Given the description of an element on the screen output the (x, y) to click on. 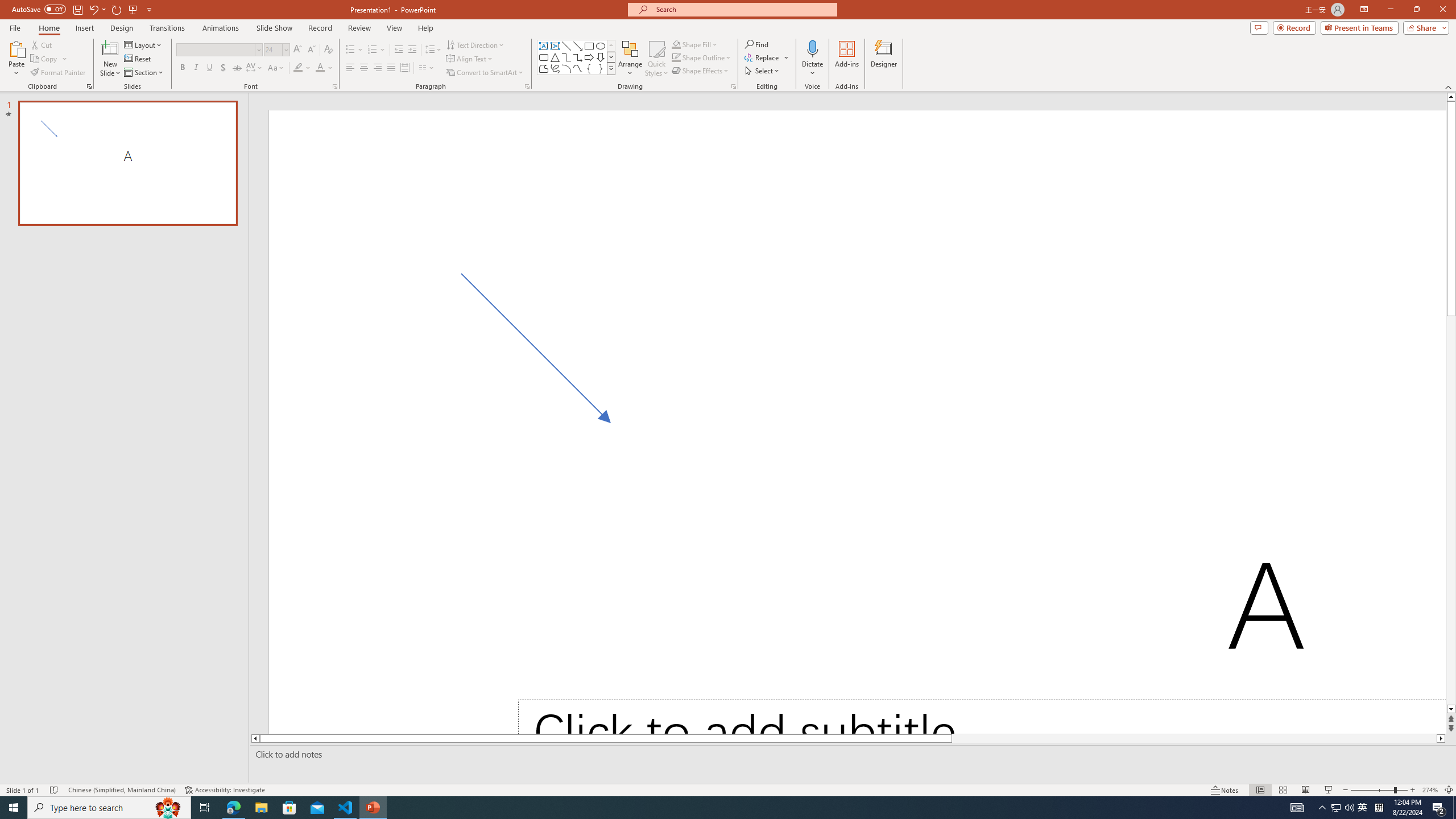
Slide A (127, 163)
